Given the description of an element on the screen output the (x, y) to click on. 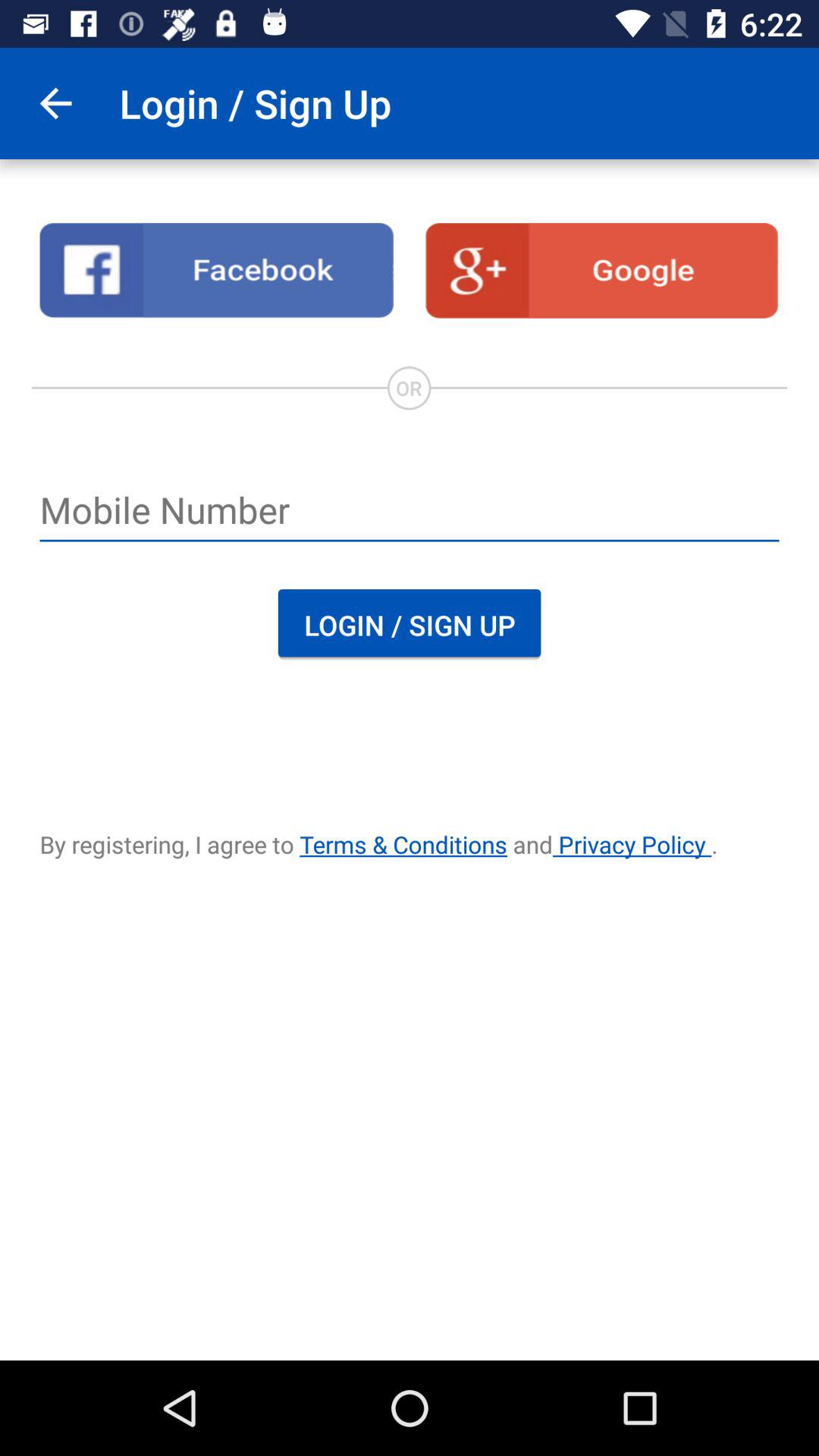
log in using facebook account (216, 270)
